Given the description of an element on the screen output the (x, y) to click on. 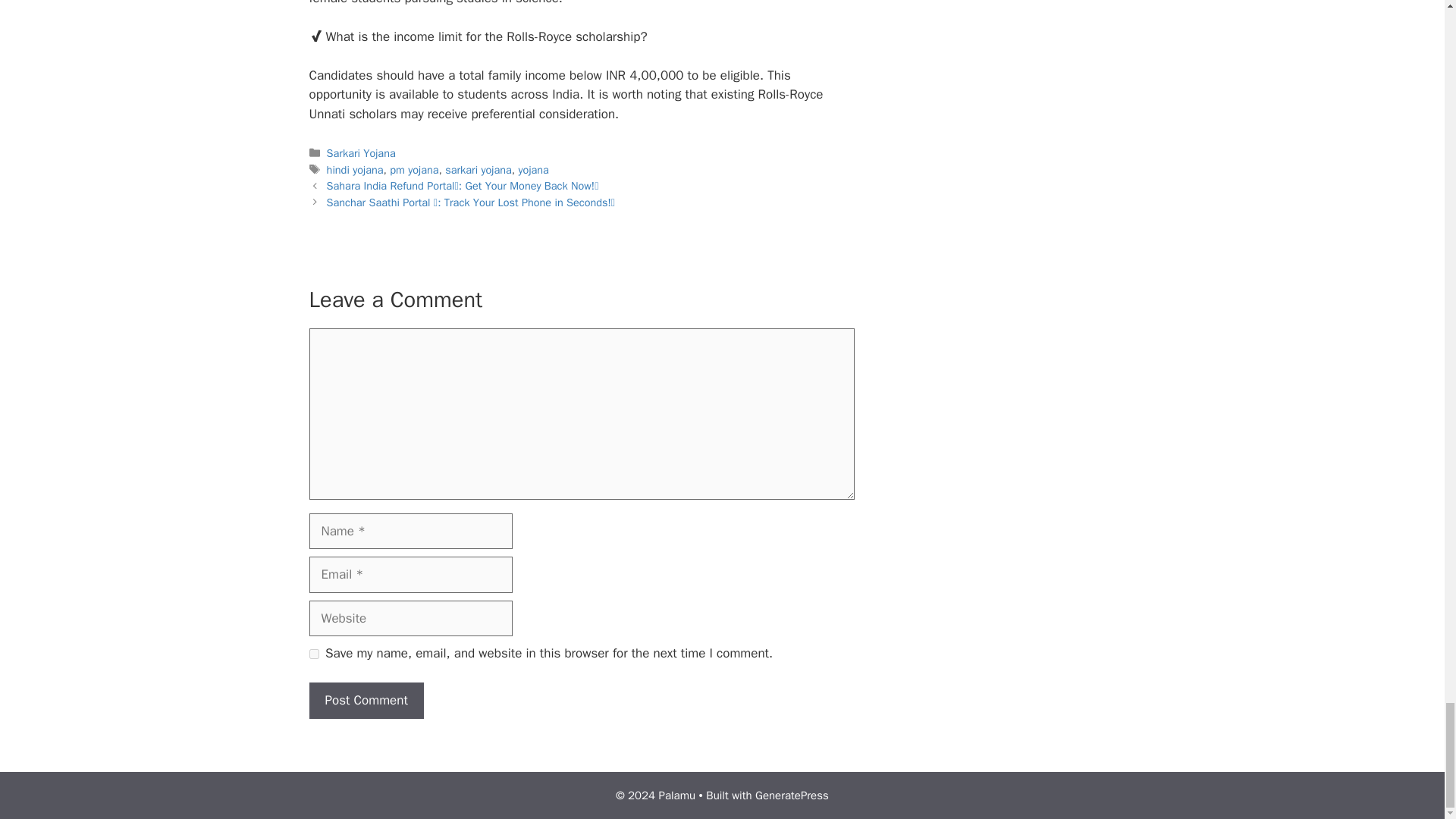
yes (313, 654)
Next (470, 202)
sarkari yojana (478, 169)
hindi yojana (355, 169)
pm yojana (414, 169)
Sarkari Yojana (361, 152)
Post Comment (365, 700)
Post Comment (365, 700)
Previous (462, 185)
yojana (533, 169)
